Given the description of an element on the screen output the (x, y) to click on. 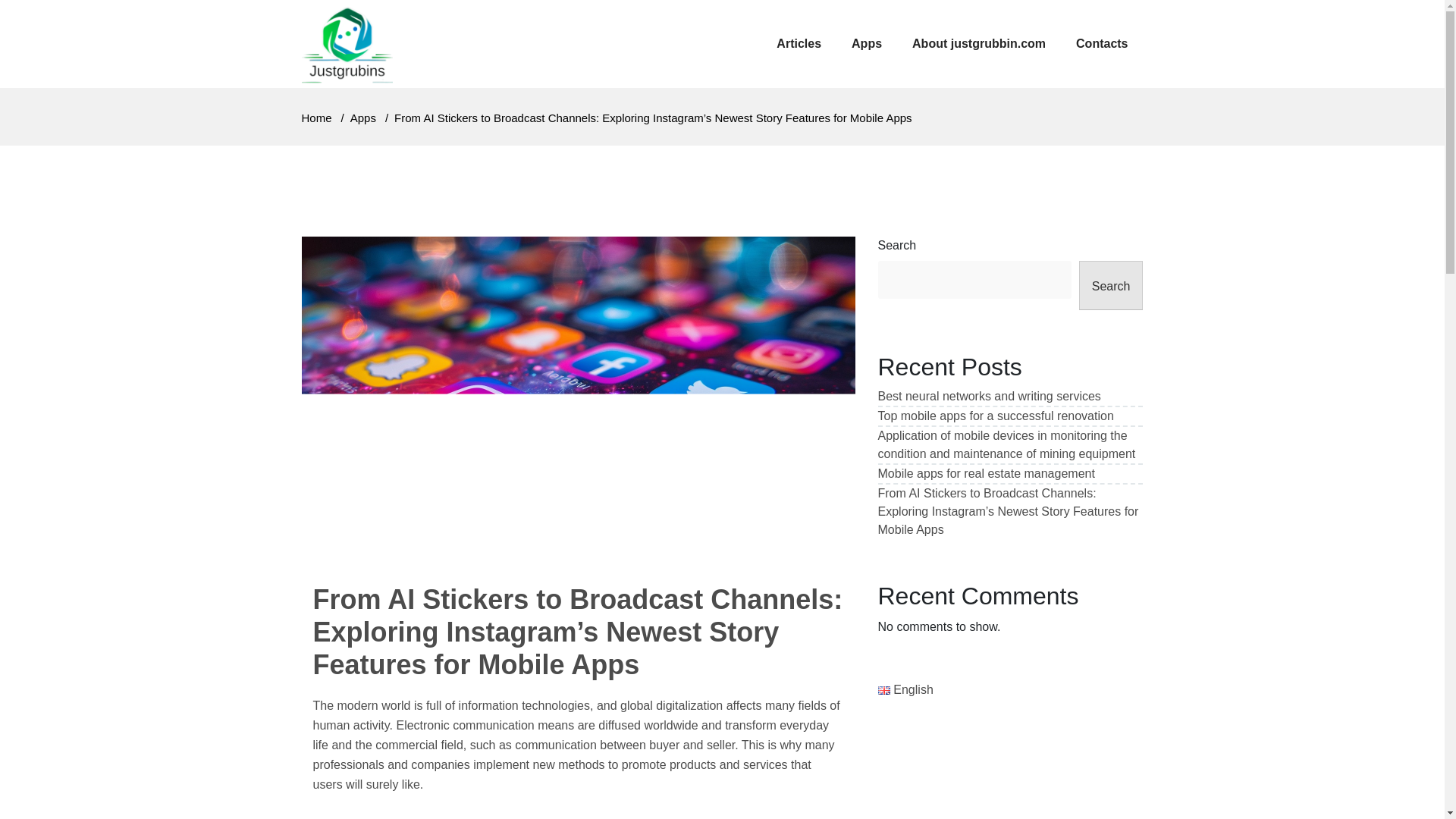
Home (316, 118)
Apps (362, 118)
Mobile apps for real estate management (985, 472)
About justgrubbin.com (978, 43)
Search (1110, 285)
Best neural networks and writing services (988, 395)
Top mobile apps for a successful renovation (995, 415)
English (905, 689)
Contacts (1101, 43)
